Given the description of an element on the screen output the (x, y) to click on. 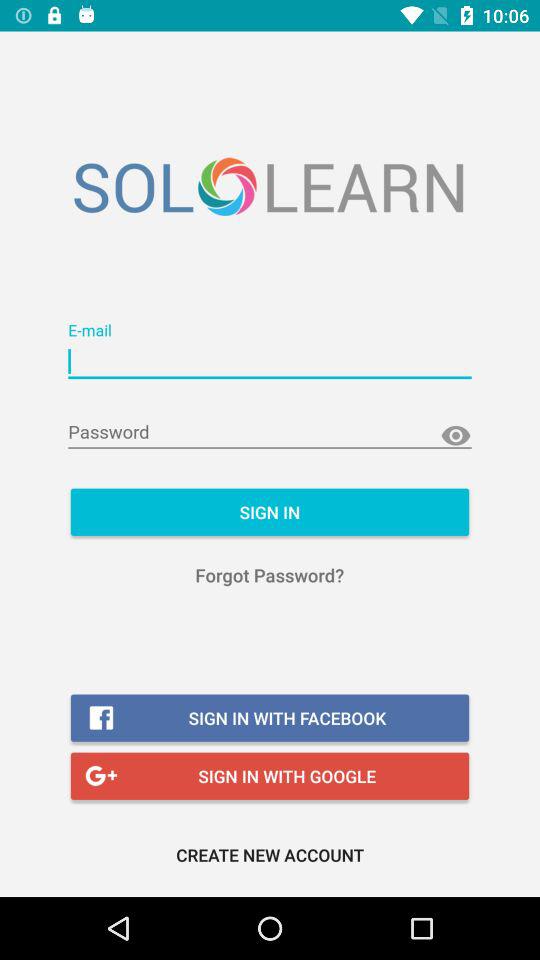
see password toggle (456, 435)
